Given the description of an element on the screen output the (x, y) to click on. 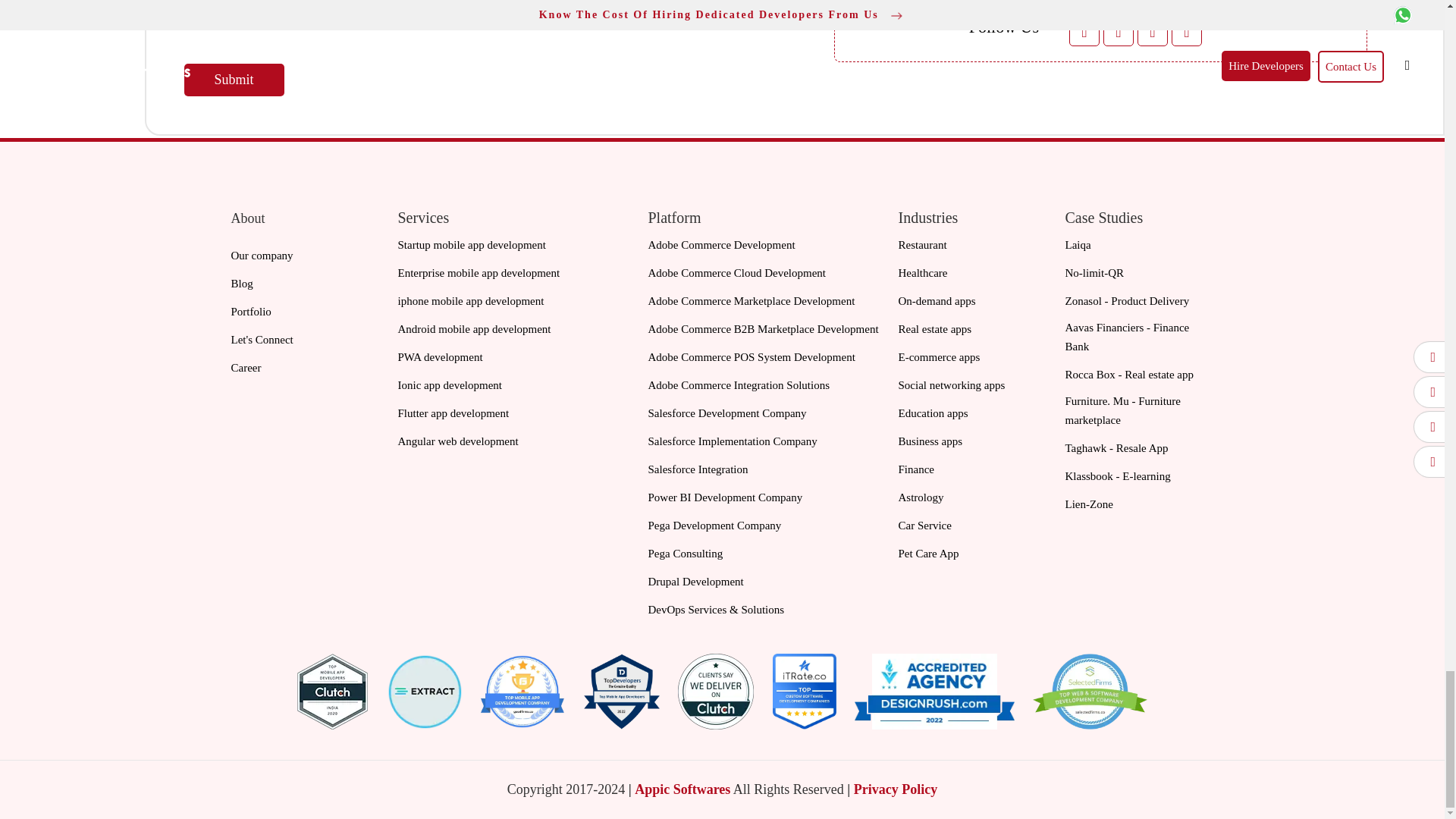
Submit (233, 79)
facebook (1083, 30)
twitter (1118, 30)
linkein (1152, 30)
instagram (1187, 30)
